Given the description of an element on the screen output the (x, y) to click on. 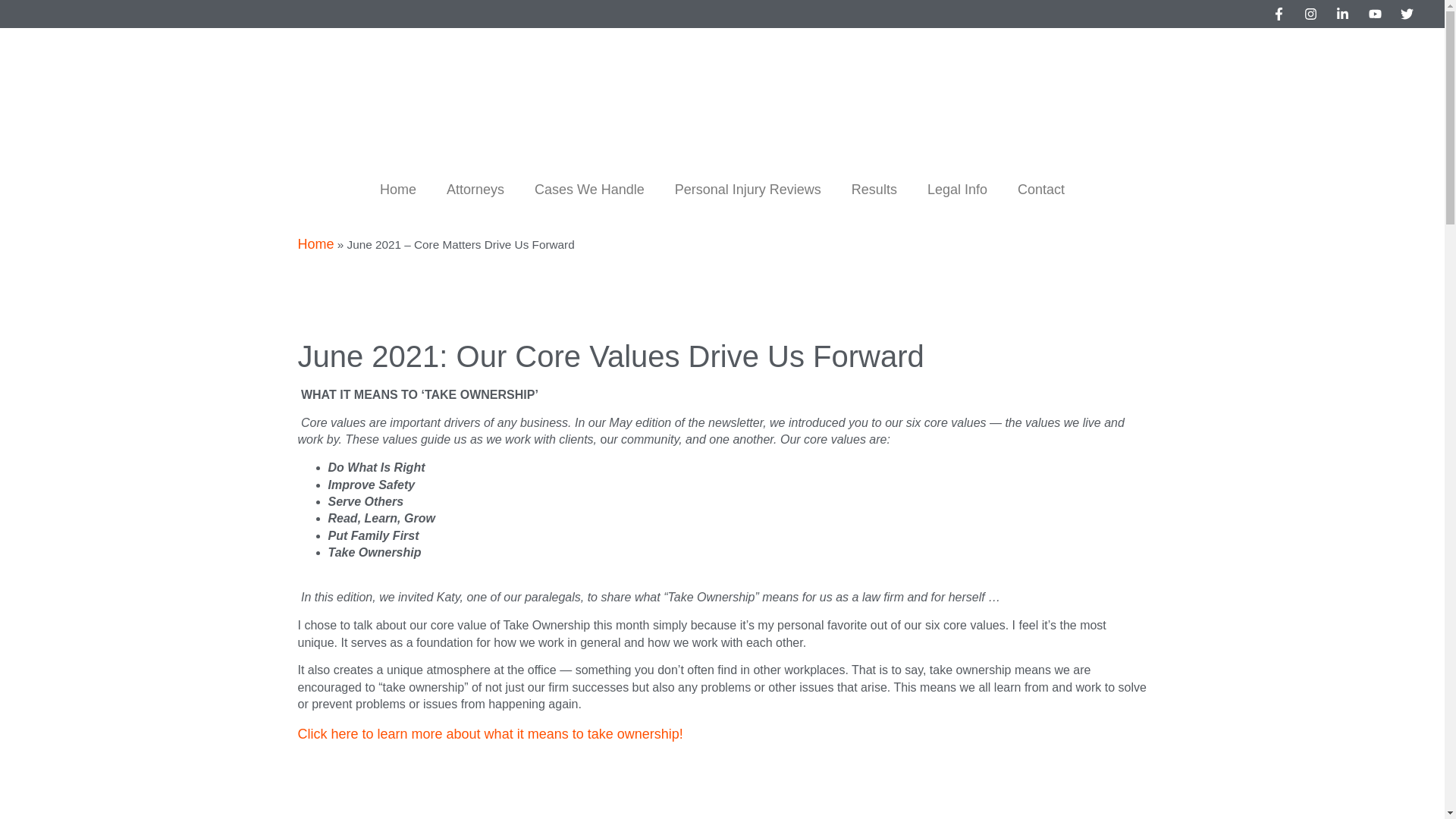
Home (397, 189)
Personal Injury Reviews (747, 189)
Cases We Handle (589, 189)
Legal Info (957, 189)
Attorneys (474, 189)
Results (873, 189)
